Given the description of an element on the screen output the (x, y) to click on. 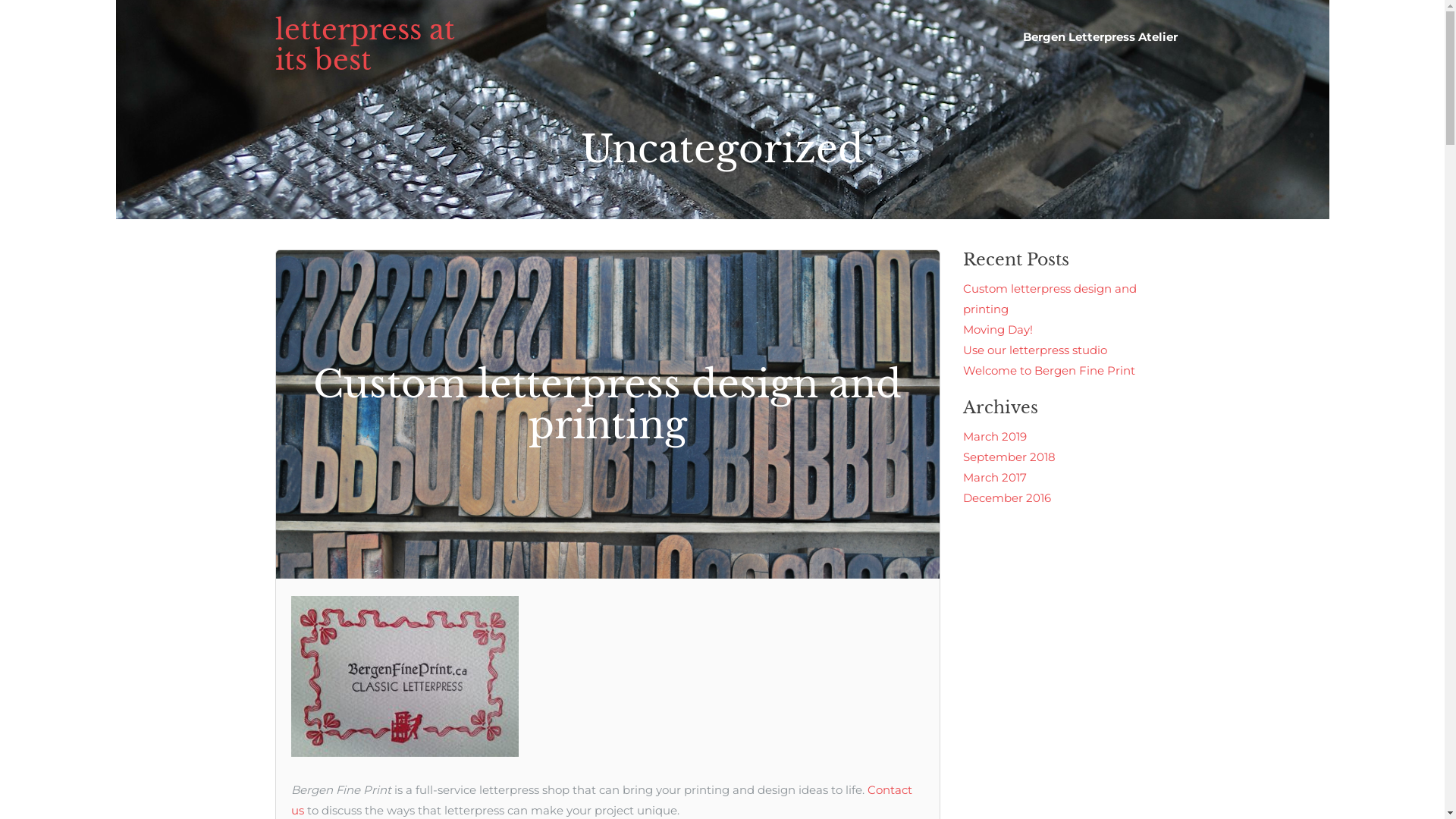
Welcome to Bergen Fine Print Element type: text (1049, 370)
Bergen Letterpress Atelier Element type: text (1099, 36)
Custom letterpress design and printing Element type: text (608, 414)
Moving Day! Element type: text (997, 329)
September 2018 Element type: text (1009, 455)
March 2019 Element type: text (994, 436)
Use our letterpress studio Element type: text (1035, 349)
March 2017 Element type: text (994, 477)
Contact us Element type: text (601, 799)
letterpress at its best Element type: text (364, 44)
Custom letterpress design and printing Element type: text (1049, 298)
December 2016 Element type: text (1007, 496)
